Given the description of an element on the screen output the (x, y) to click on. 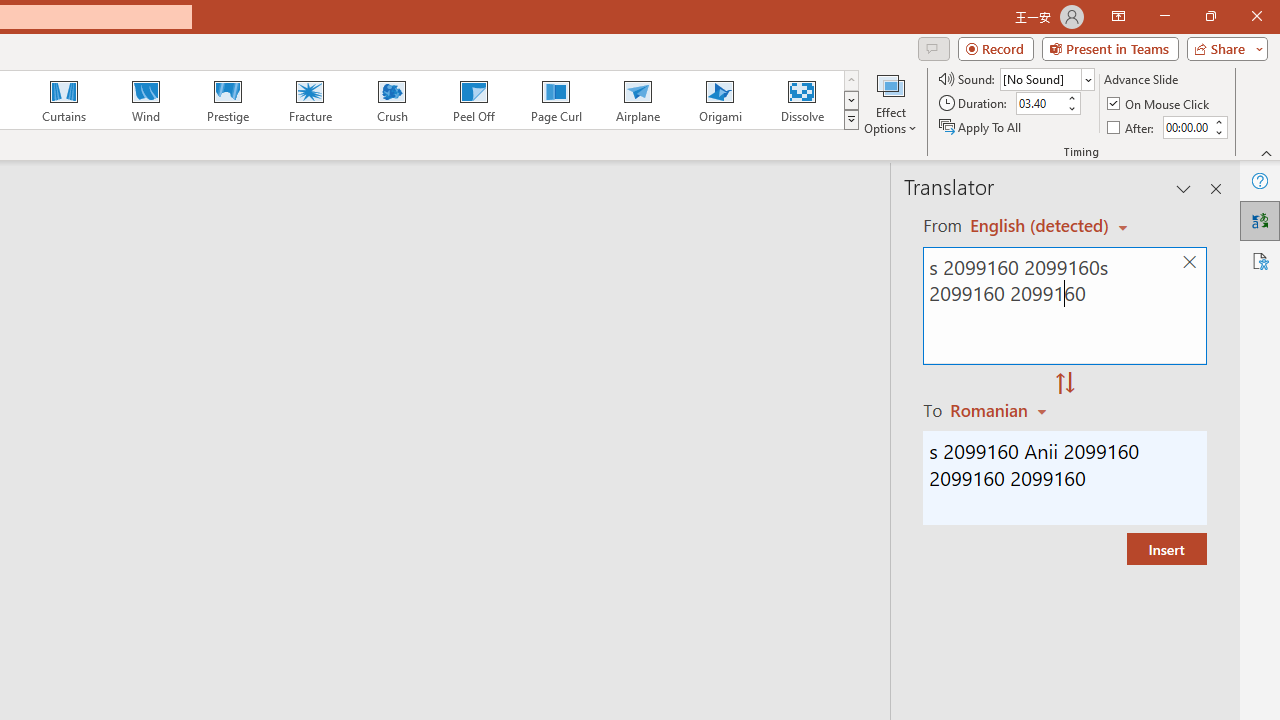
Fracture (309, 100)
Wind (145, 100)
Peel Off (473, 100)
Curtains (63, 100)
Airplane (637, 100)
Czech (detected) (1039, 225)
After (1186, 127)
Effect Options (890, 102)
Duration (1039, 103)
Crush (391, 100)
